Given the description of an element on the screen output the (x, y) to click on. 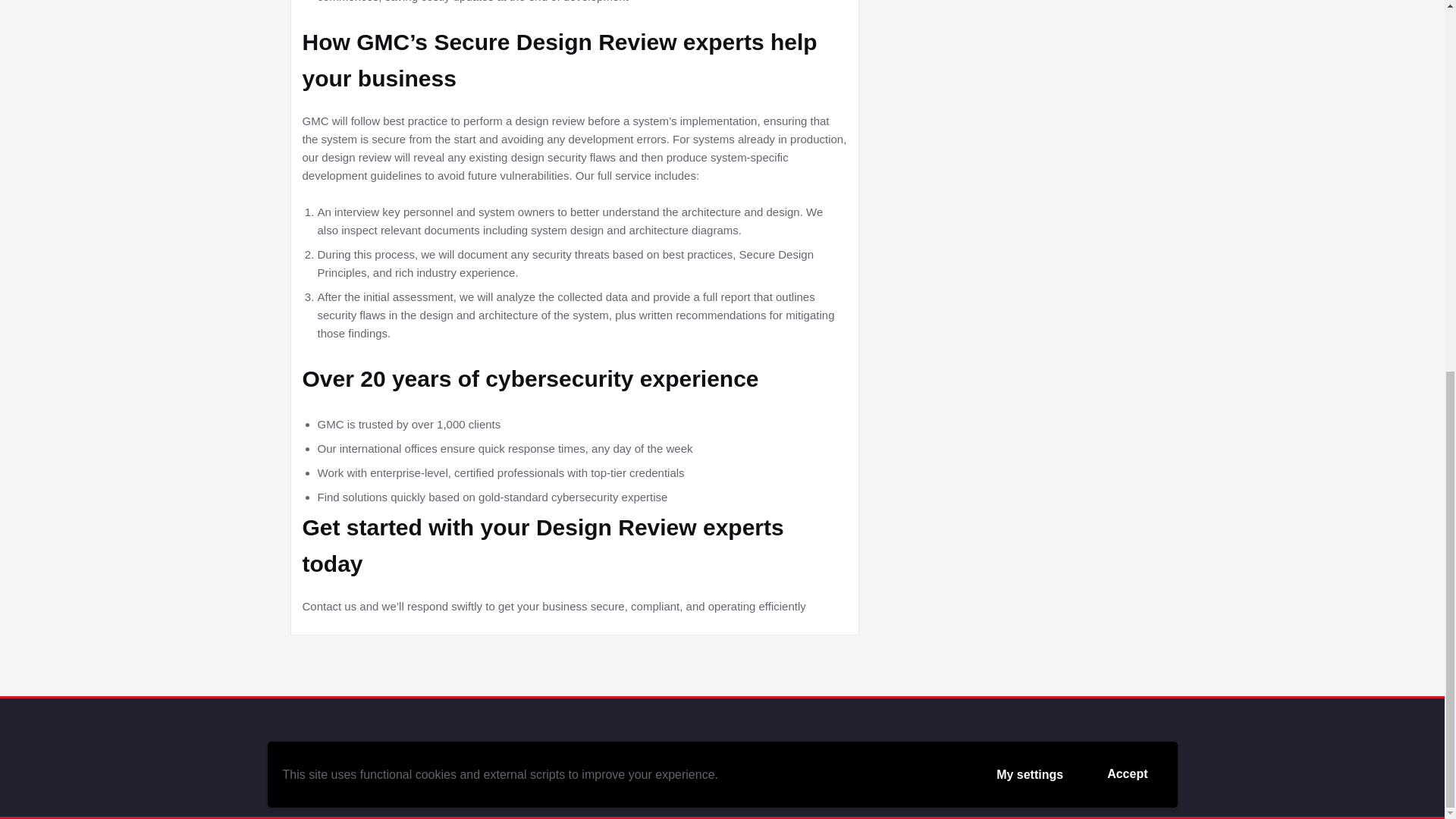
Accept (1127, 99)
My settings (1029, 99)
